Given the description of an element on the screen output the (x, y) to click on. 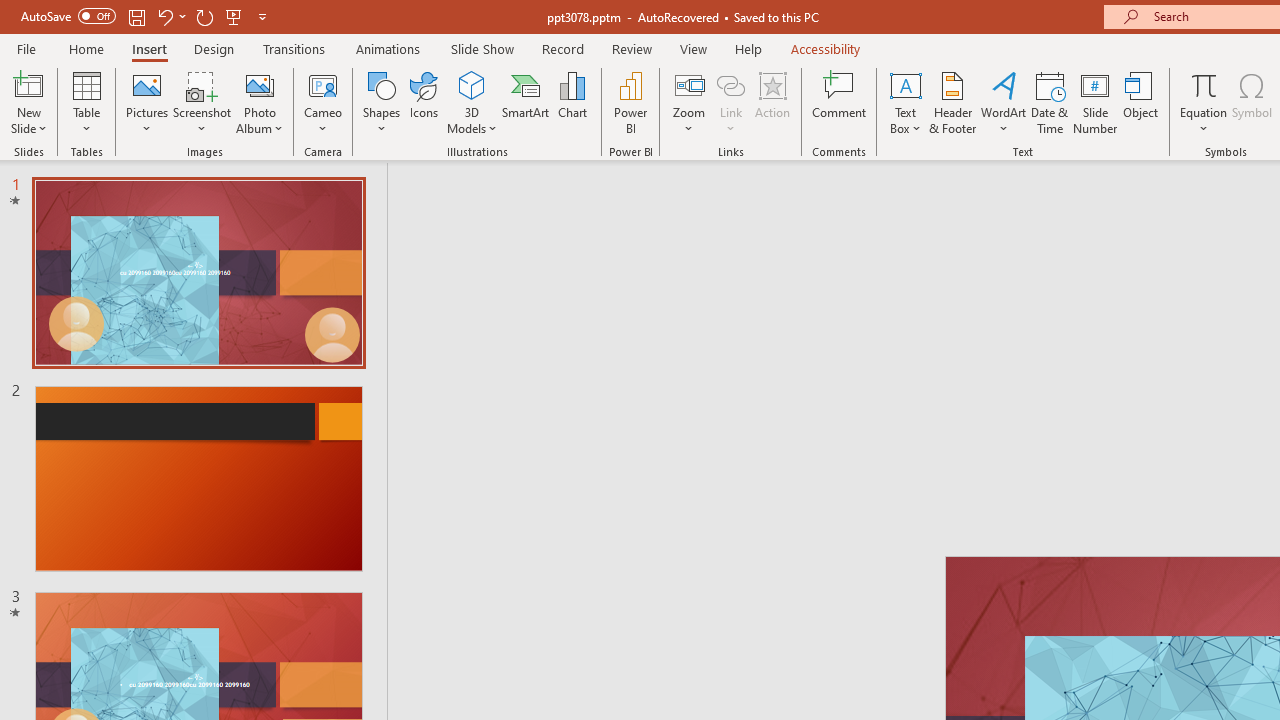
Icons (424, 102)
Slide Number (1095, 102)
Draw Horizontal Text Box (905, 84)
Link (731, 102)
WordArt (1004, 102)
